Given the description of an element on the screen output the (x, y) to click on. 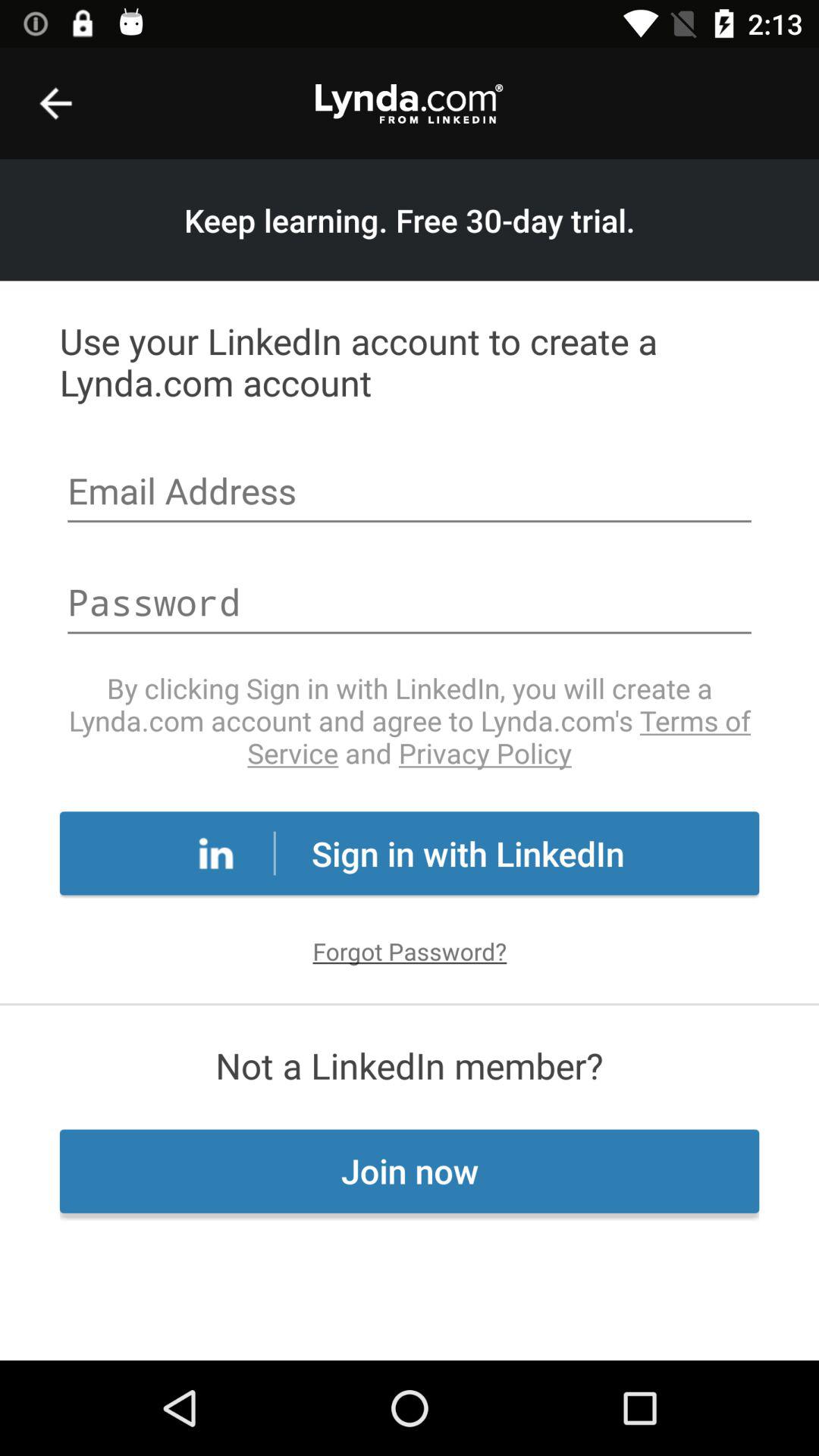
turn off icon at the top left corner (55, 103)
